Given the description of an element on the screen output the (x, y) to click on. 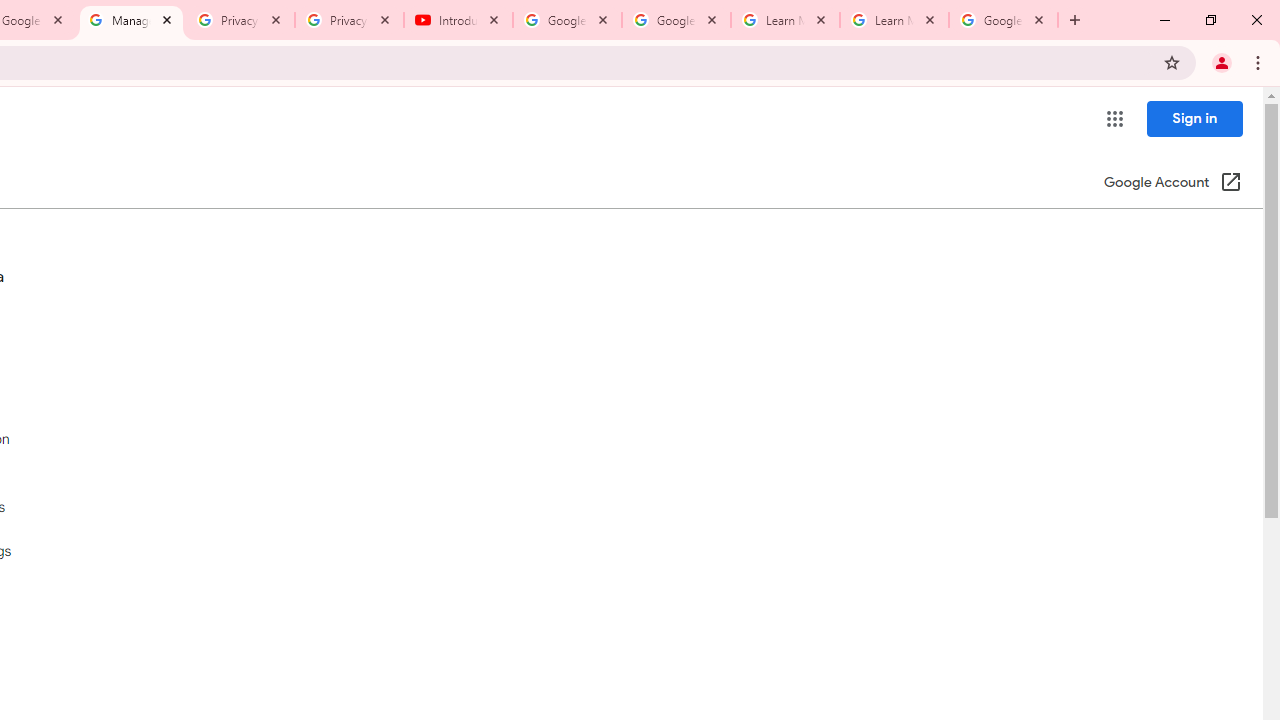
Google Account (Open in a new window) (1172, 183)
